Given the description of an element on the screen output the (x, y) to click on. 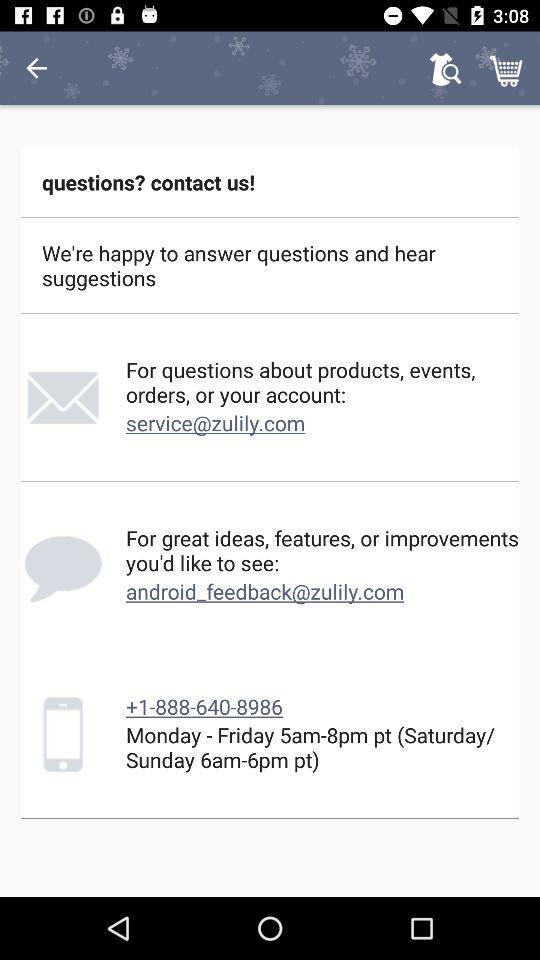
select icon above questions? contact us! icon (444, 67)
